Given the description of an element on the screen output the (x, y) to click on. 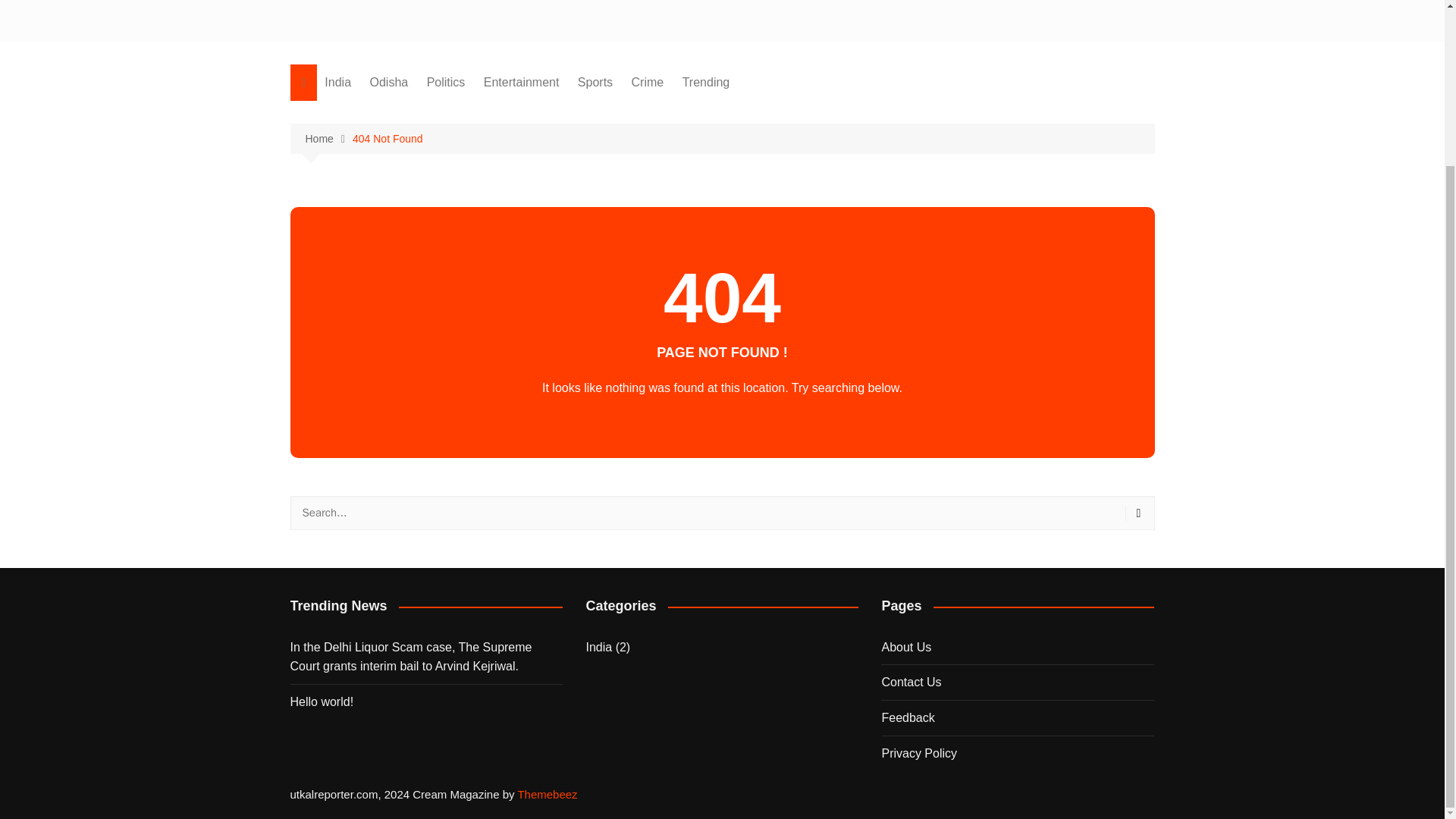
404 Not Found (387, 138)
Trending (706, 82)
Home (328, 139)
About Us (905, 646)
Privacy Policy (918, 753)
Feedback (907, 717)
Hello world! (425, 701)
Politics (446, 82)
Themebeez (546, 793)
India (337, 82)
Contact Us (910, 681)
Sports (595, 82)
India (598, 647)
Odisha (389, 82)
